Given the description of an element on the screen output the (x, y) to click on. 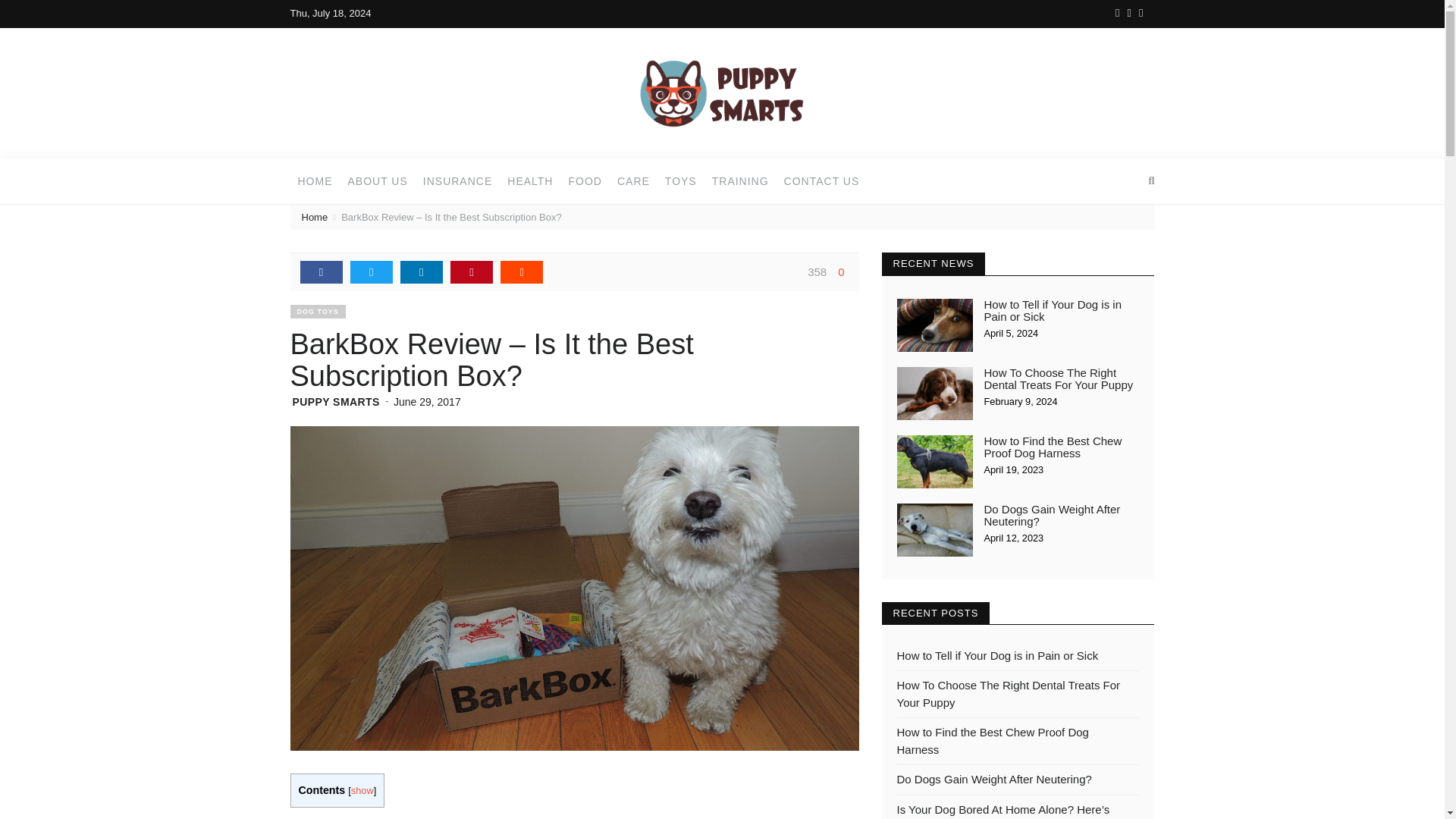
Home (314, 180)
HOME (314, 180)
Insurance (456, 180)
Care (634, 180)
CARE (634, 180)
HEALTH (529, 180)
DOG TOYS (317, 311)
TOYS (681, 180)
June 29, 2017 (427, 401)
Puppy Smarts (722, 91)
TRAINING (740, 180)
FOOD (584, 180)
About Us (376, 180)
ABOUT US (376, 180)
INSURANCE (456, 180)
